Given the description of an element on the screen output the (x, y) to click on. 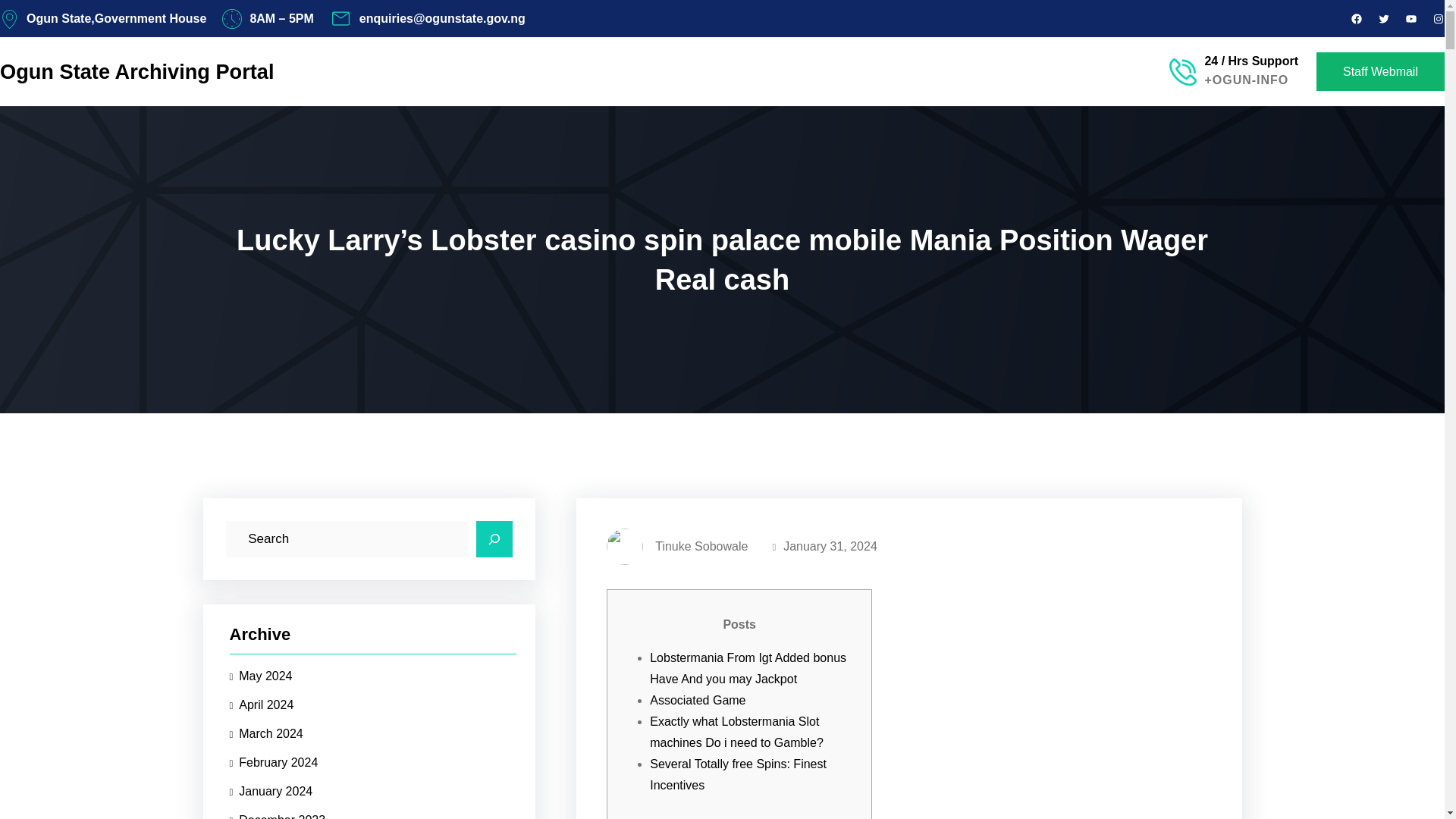
Facebook (1356, 19)
Ogun State Archiving Portal (137, 72)
YouTube (1410, 19)
Twitter (1383, 19)
